Given the description of an element on the screen output the (x, y) to click on. 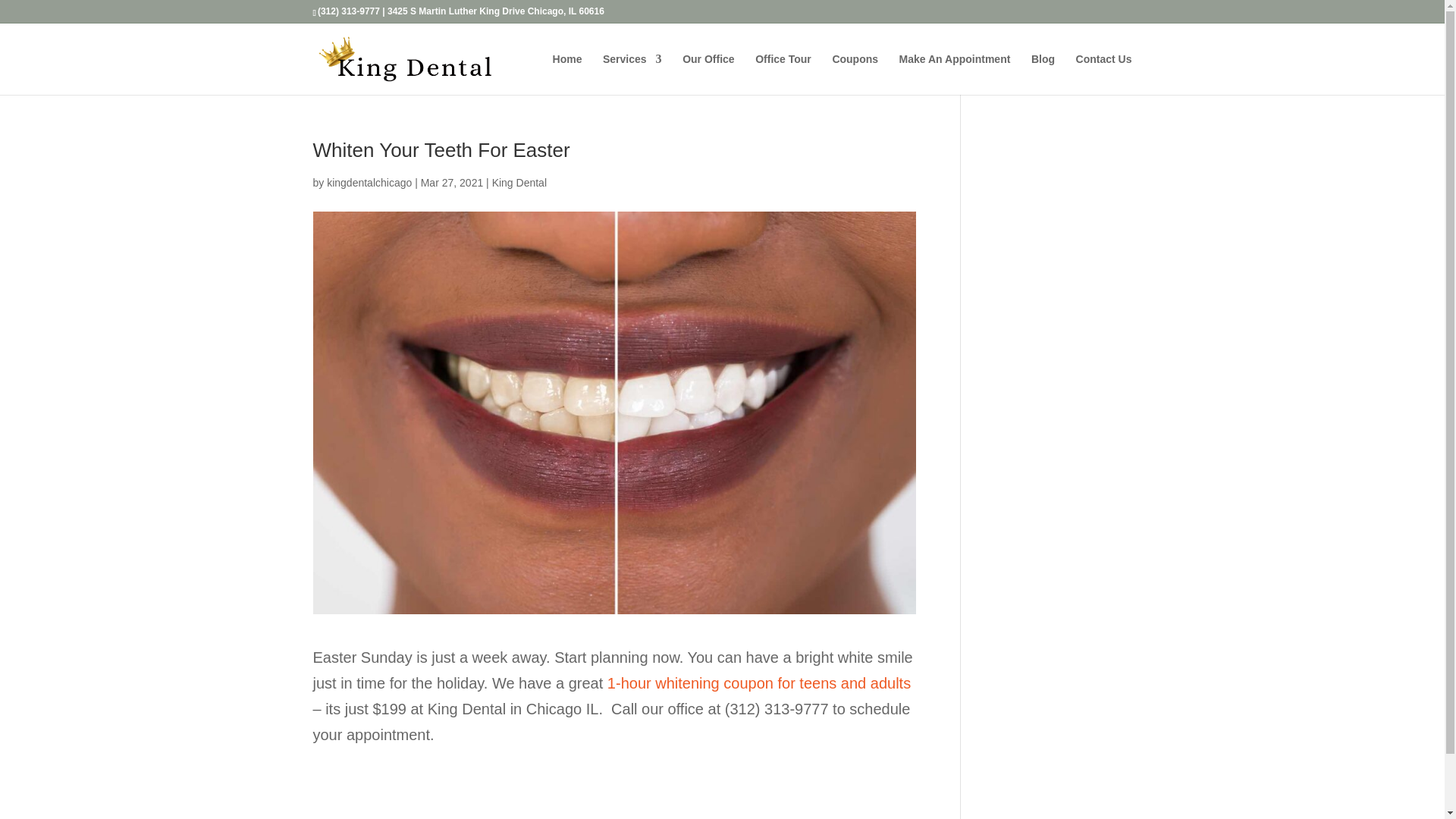
Contact Us (1103, 74)
Coupons (854, 74)
1-hour whitening coupon for teens and adults (759, 682)
Make An Appointment (954, 74)
Office Tour (782, 74)
King Dental (519, 182)
Services (632, 74)
kingdentalchicago (369, 182)
Our Office (707, 74)
Posts by kingdentalchicago (369, 182)
